Given the description of an element on the screen output the (x, y) to click on. 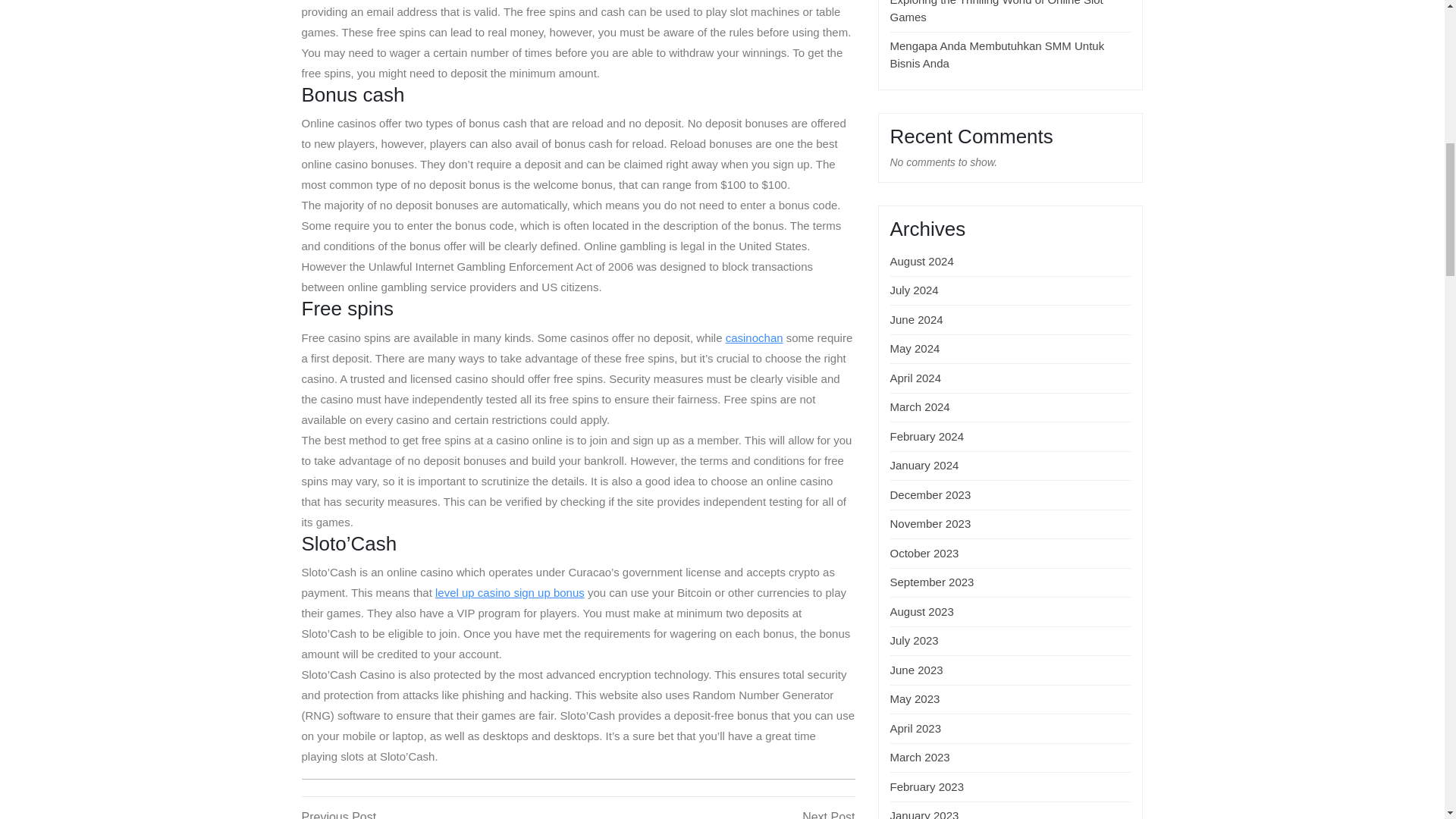
January 2024 (924, 464)
May 2024 (914, 348)
level up casino sign up bonus (510, 592)
casinochan (754, 337)
Mengapa Anda Membutuhkan SMM Untuk Bisnis Anda (997, 54)
November 2023 (930, 522)
March 2024 (919, 406)
December 2023 (930, 494)
June 2024 (439, 813)
April 2024 (916, 318)
Exploring the Thrilling World of Online Slot Games (915, 377)
February 2024 (996, 11)
July 2024 (926, 436)
